Given the description of an element on the screen output the (x, y) to click on. 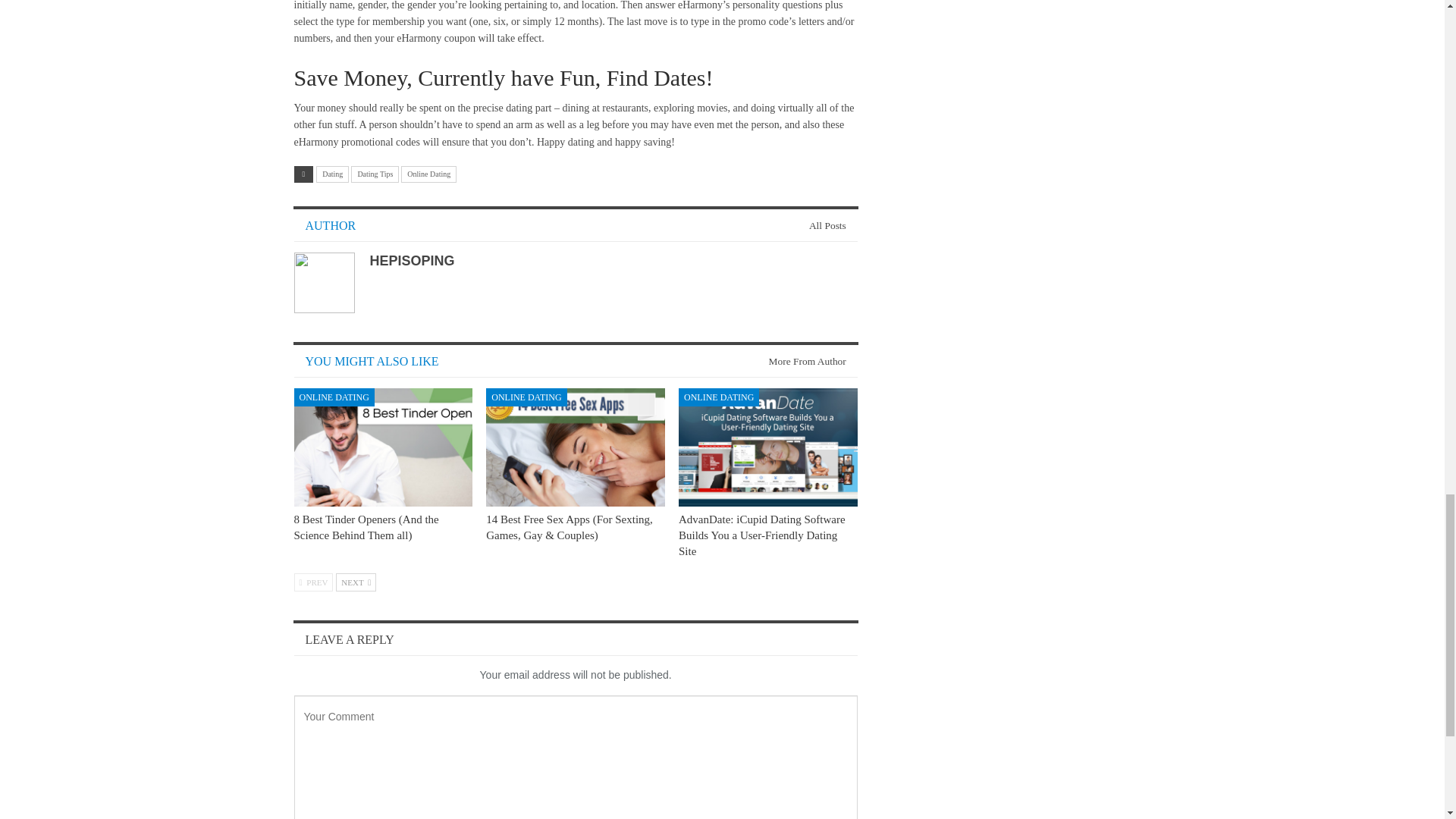
Dating (332, 174)
Browse Author Articles (820, 225)
Previous (313, 582)
Dating Tips (374, 174)
Online Dating (429, 174)
Next (355, 582)
